Given the description of an element on the screen output the (x, y) to click on. 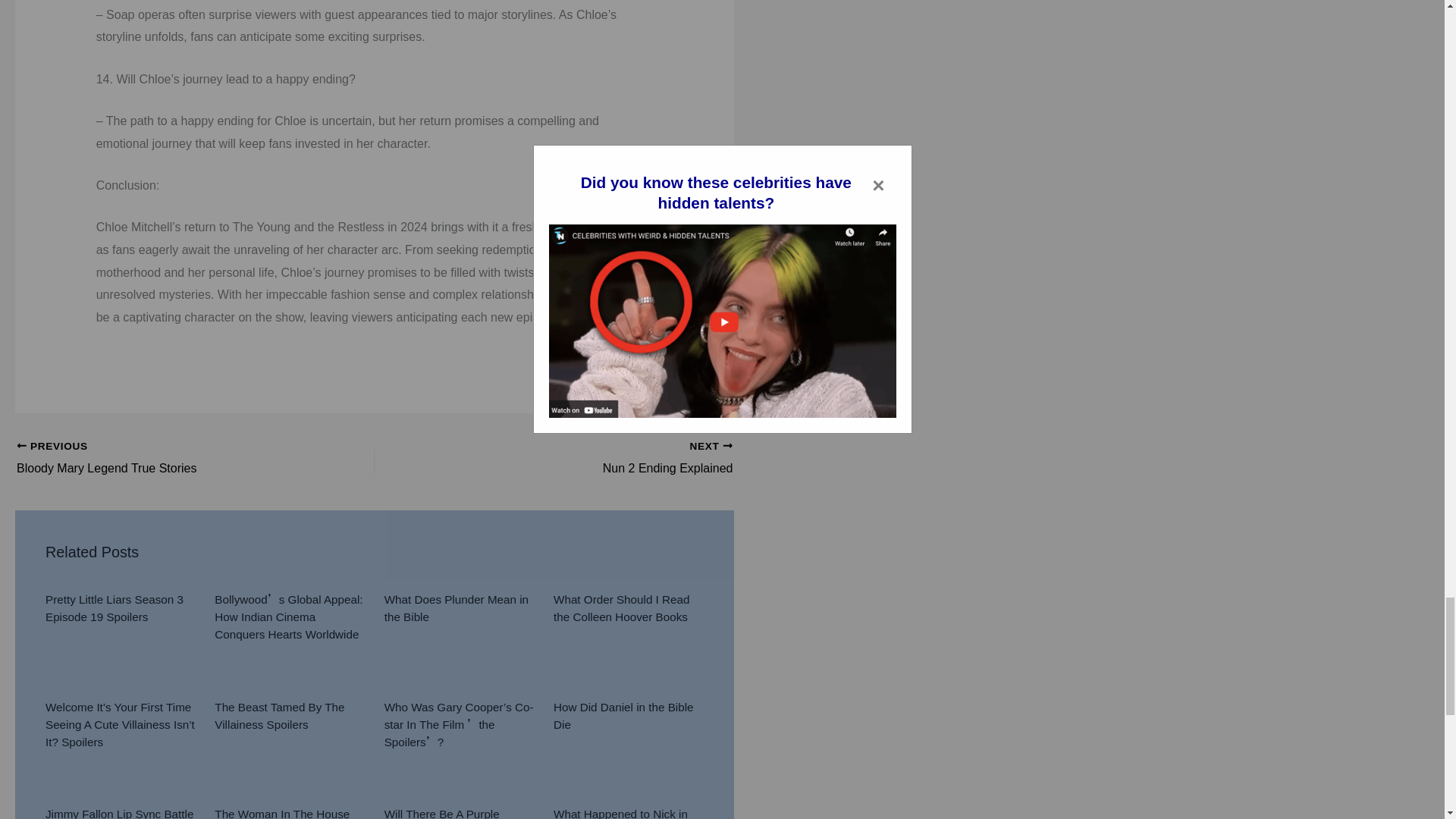
Bloody Mary Legend True Stories (160, 458)
Nun 2 Ending Explained (588, 458)
